Given the description of an element on the screen output the (x, y) to click on. 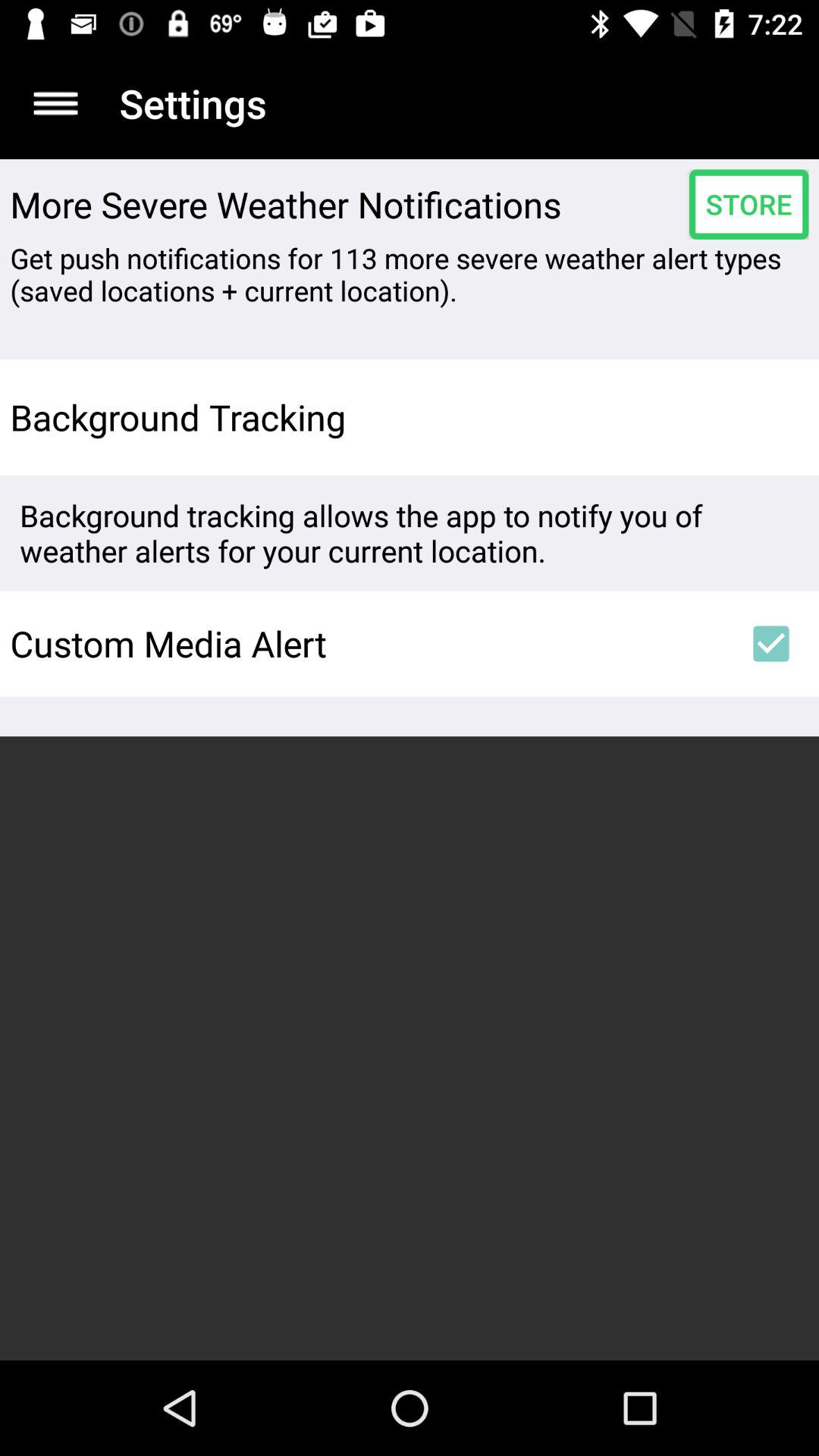
open the item to the right of background tracking (771, 417)
